Given the description of an element on the screen output the (x, y) to click on. 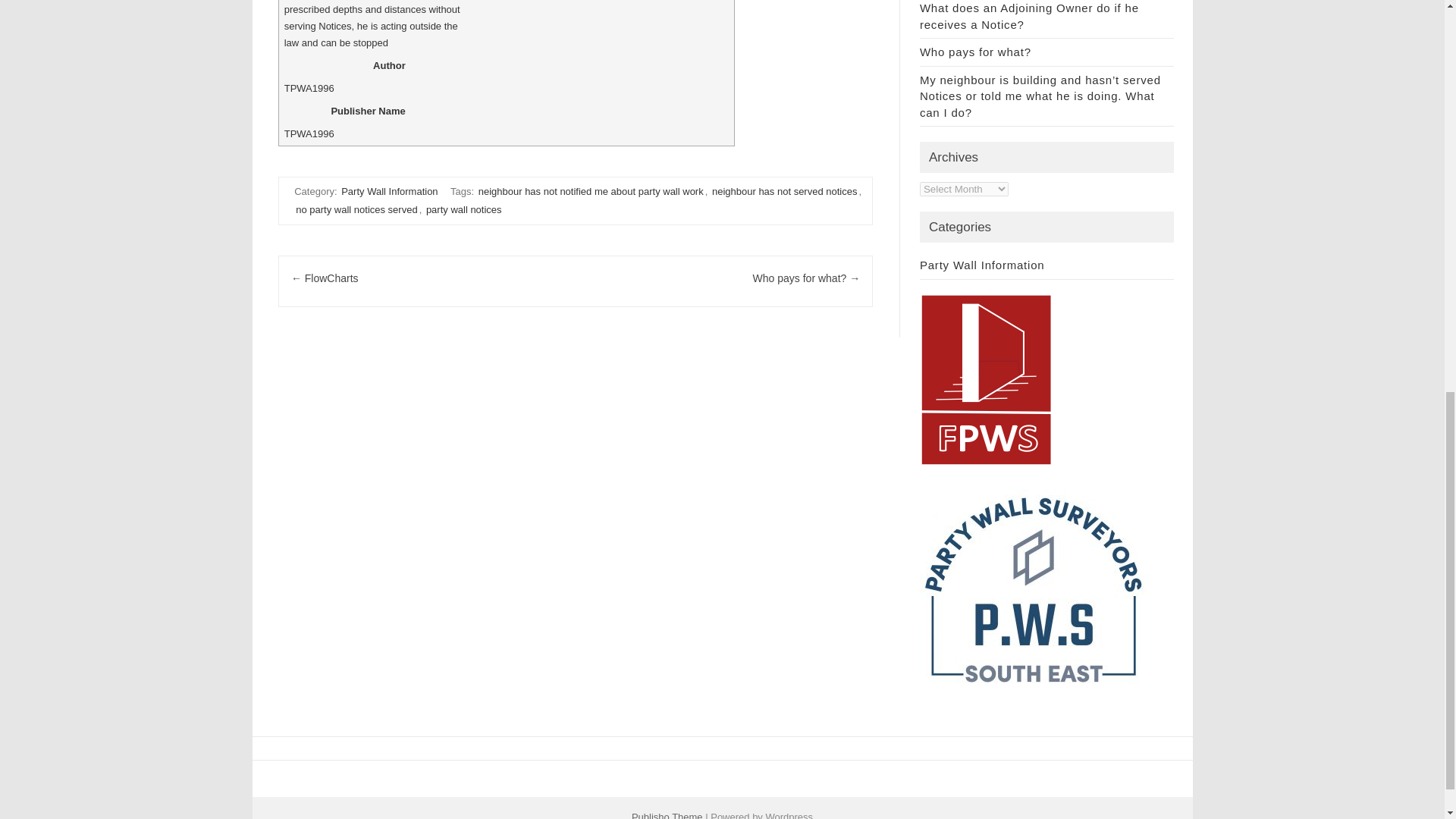
neighbour has not notified me about party wall work (590, 191)
no party wall notices served (356, 209)
Party Wall Information (389, 191)
neighbour has not served notices (784, 191)
party wall notices (464, 209)
